Given the description of an element on the screen output the (x, y) to click on. 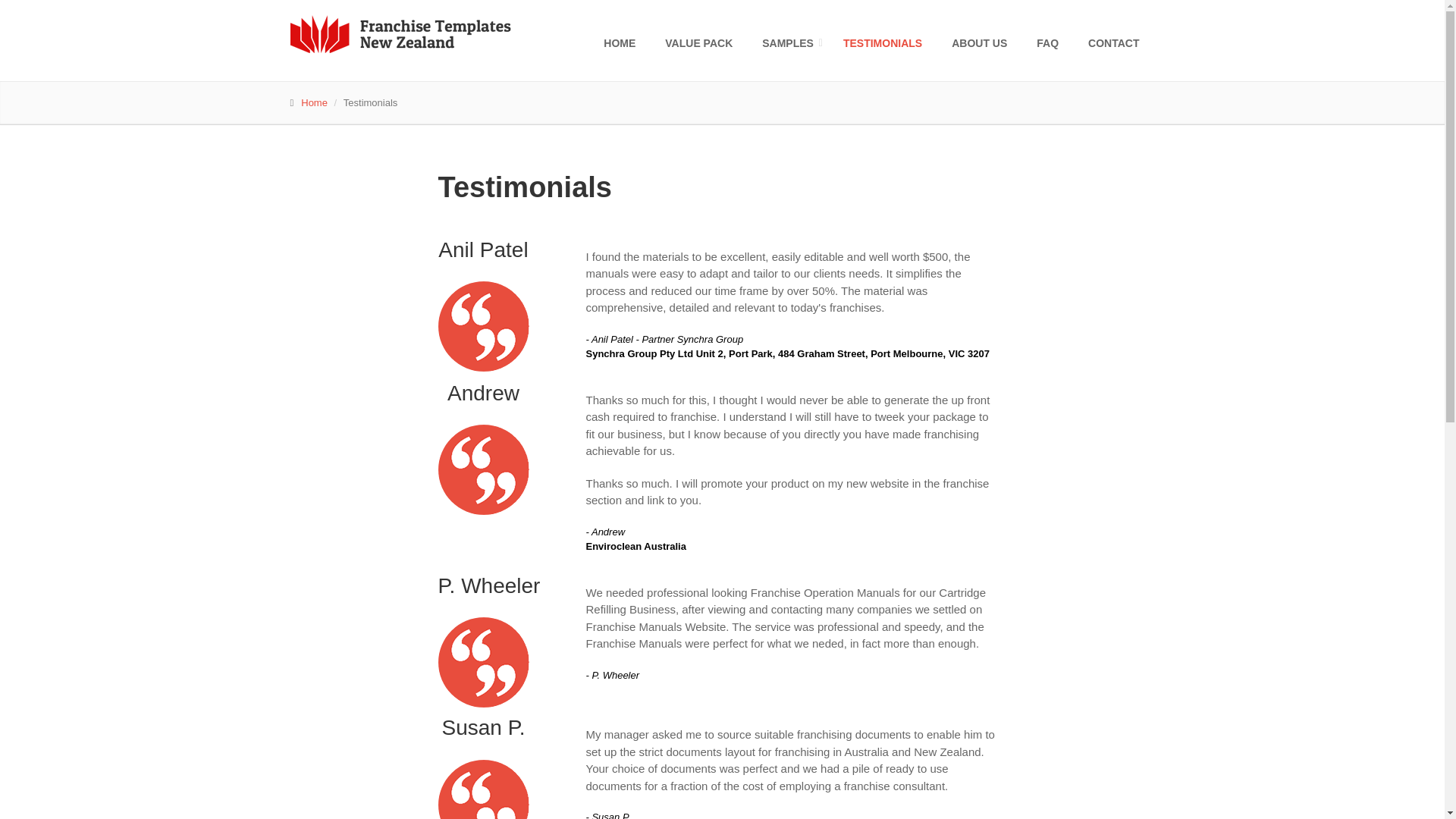
SAMPLES (793, 42)
VALUE PACK (703, 42)
Home (314, 102)
FAQ (1052, 42)
CONTACT (1118, 42)
HOME (624, 42)
TESTIMONIALS (888, 42)
ABOUT US (984, 42)
